Given the description of an element on the screen output the (x, y) to click on. 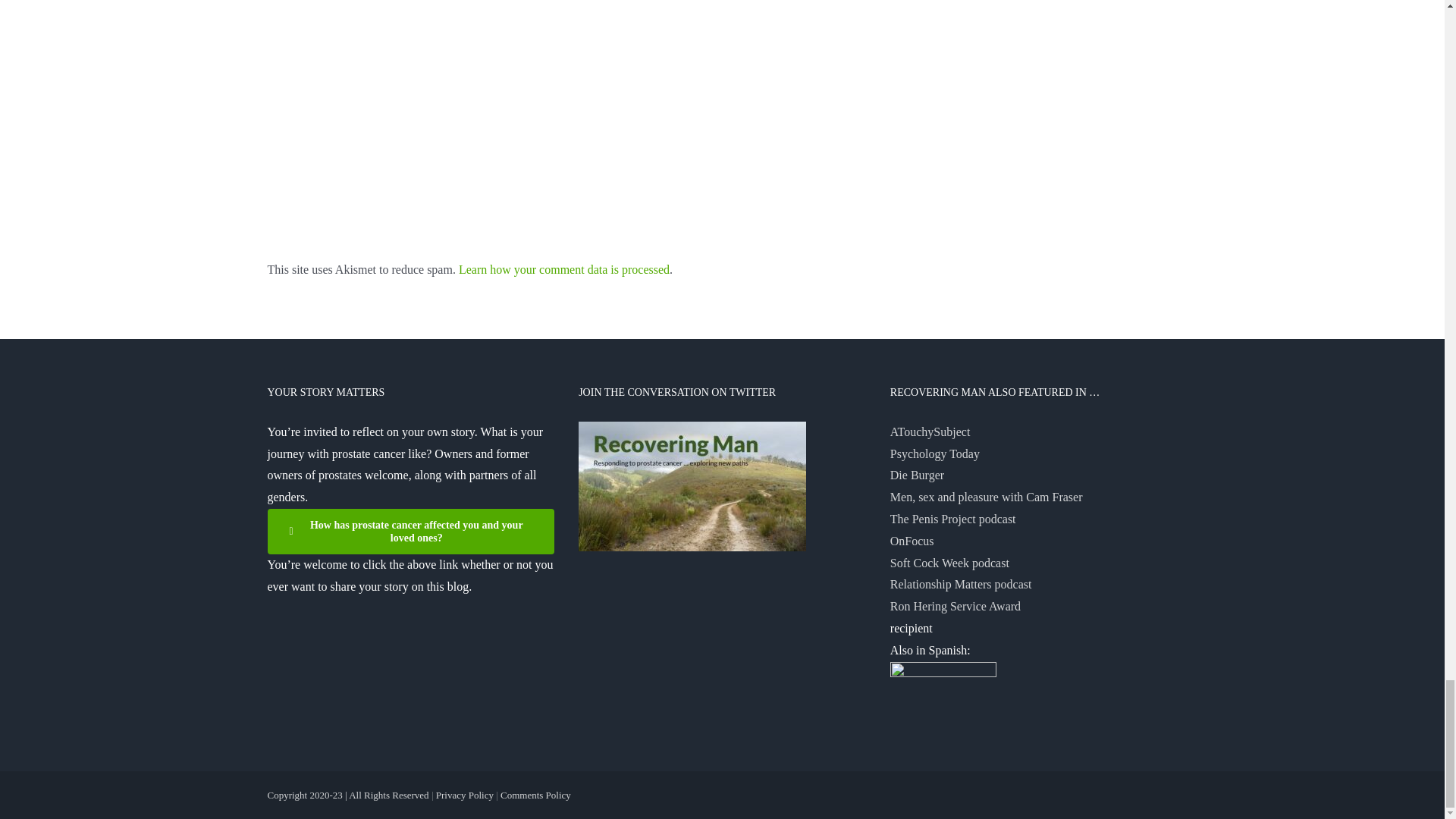
Learn how your comment data is processed (563, 269)
